Given the description of an element on the screen output the (x, y) to click on. 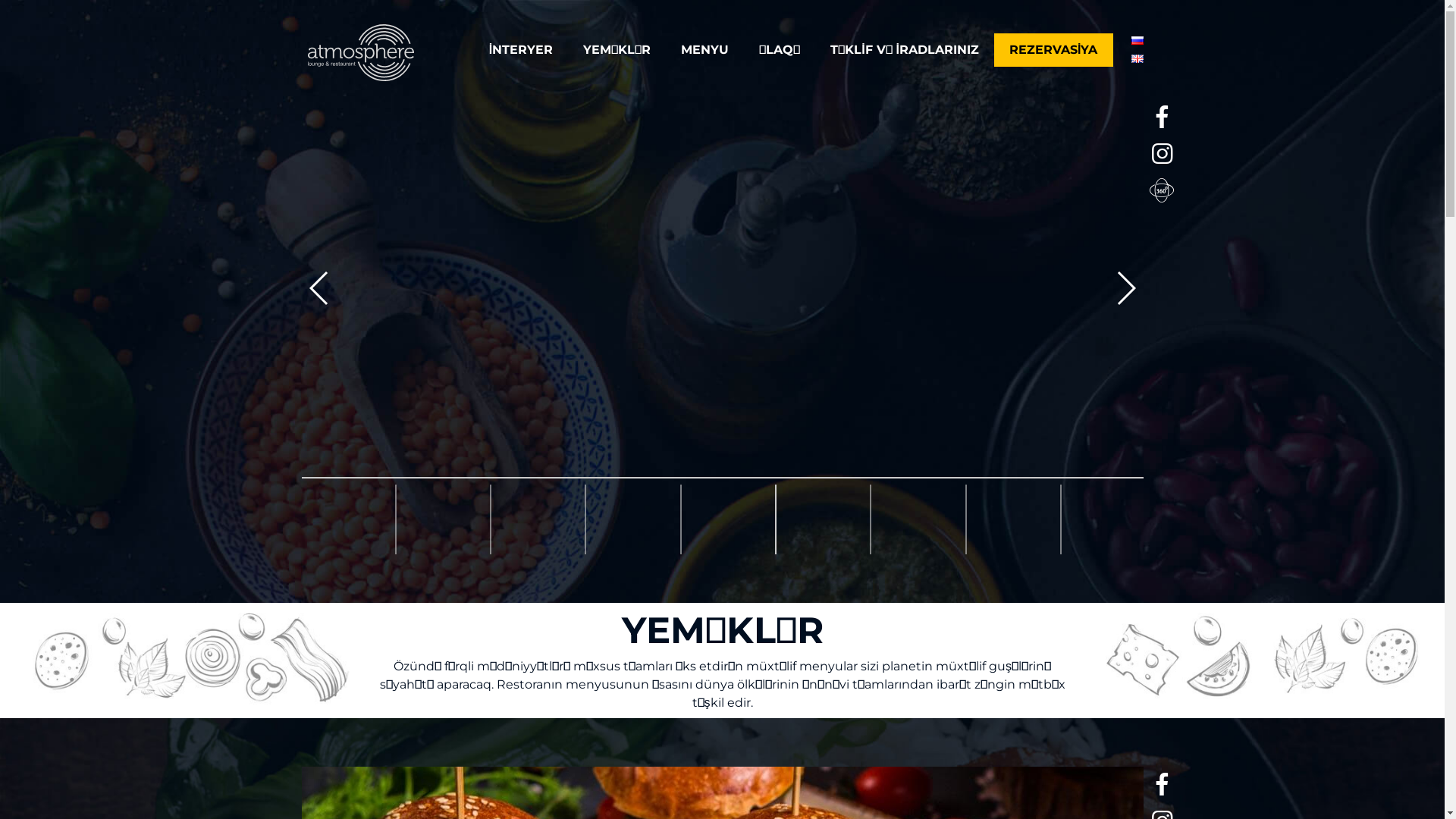
MENYU Element type: text (704, 49)
